Given the description of an element on the screen output the (x, y) to click on. 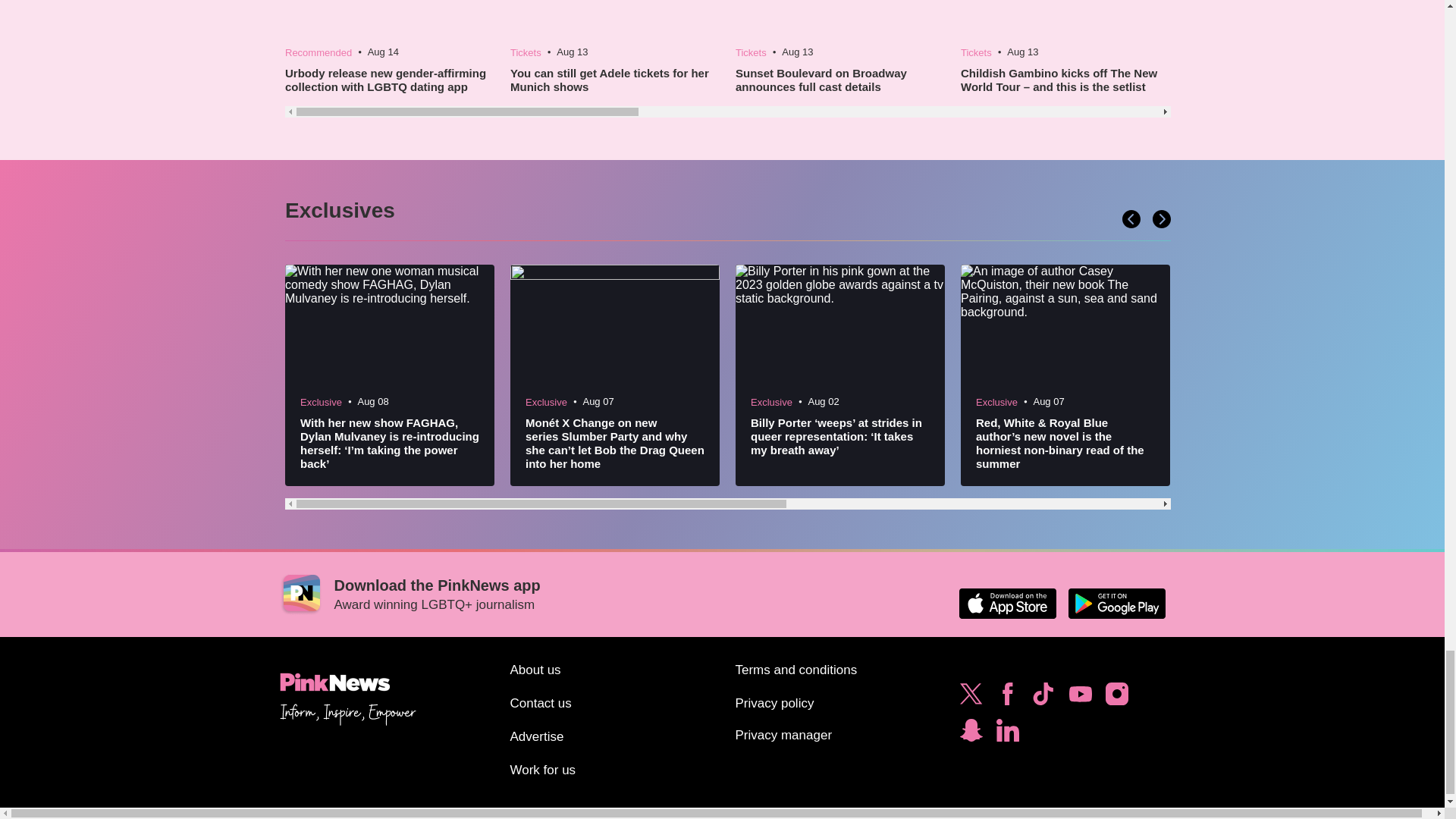
Subscribe to PinkNews on Snapchat (970, 733)
Follow PinkNews on Twitter (970, 697)
Subscribe to PinkNews on YouTube (1079, 697)
Download the PinkNews app on the Apple App Store (1006, 603)
Follow PinkNews on Instagram (1116, 697)
Download the PinkNews app on Google Play (1115, 603)
Follow PinkNews on TikTok (1042, 697)
Follow PinkNews on LinkedIn (1007, 733)
